Given the description of an element on the screen output the (x, y) to click on. 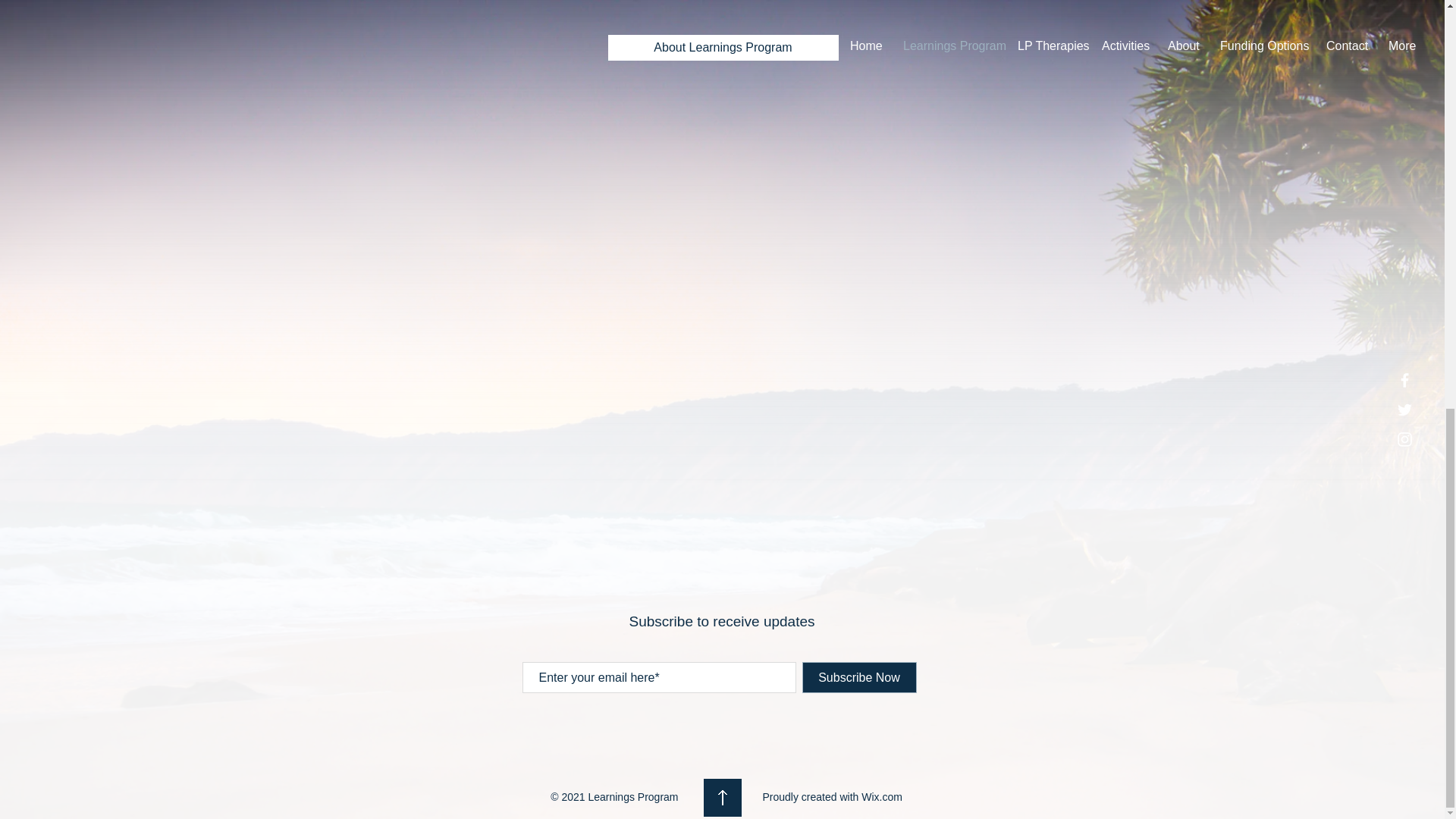
About Learnings Program (723, 47)
Proudly created with Wix.com (832, 797)
Subscribe Now (859, 676)
Subscribe to receive updates (720, 621)
